Given the description of an element on the screen output the (x, y) to click on. 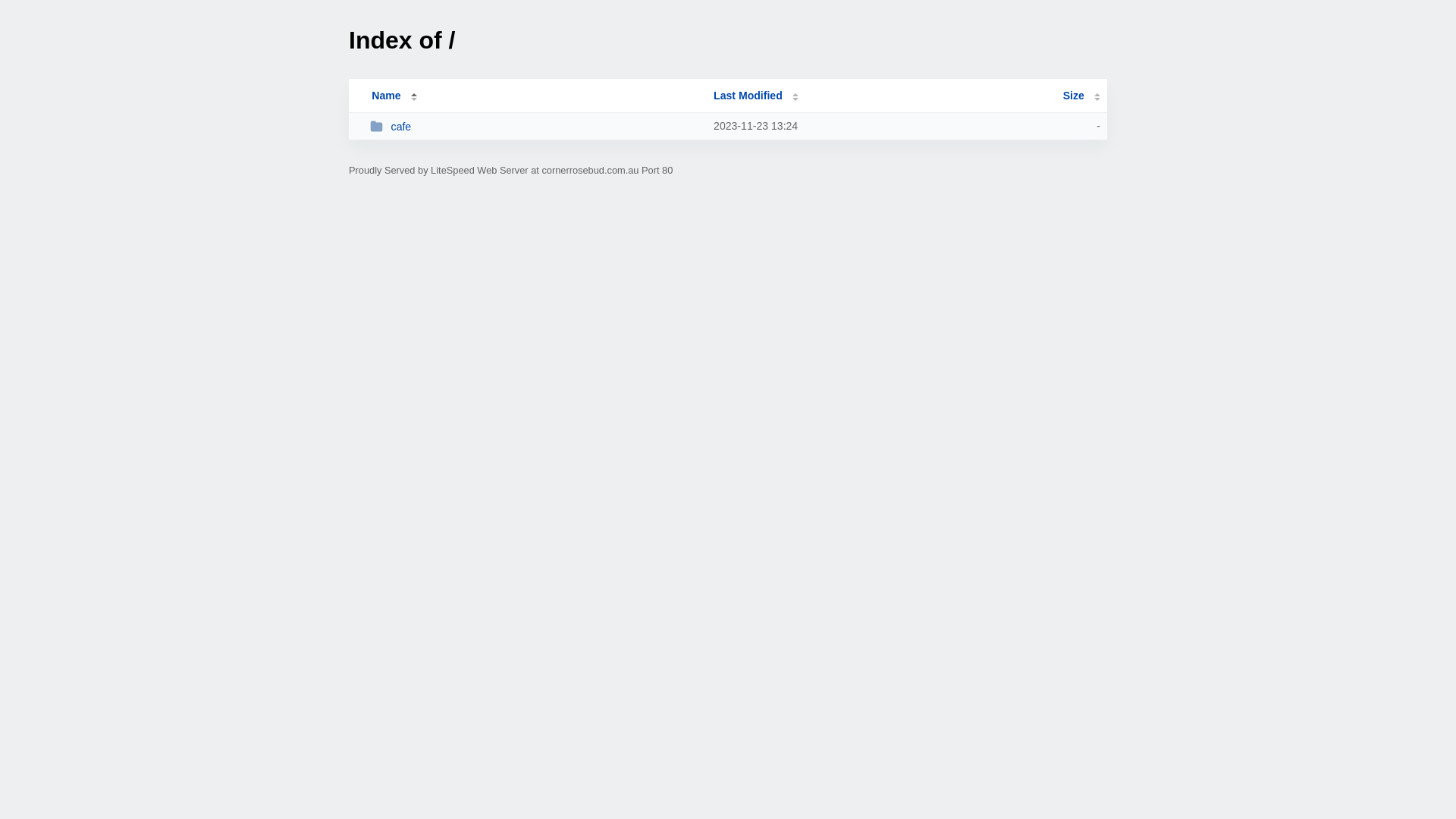
Last Modified Element type: text (755, 95)
cafe Element type: text (534, 125)
Name Element type: text (385, 95)
Size Element type: text (1081, 95)
